Given the description of an element on the screen output the (x, y) to click on. 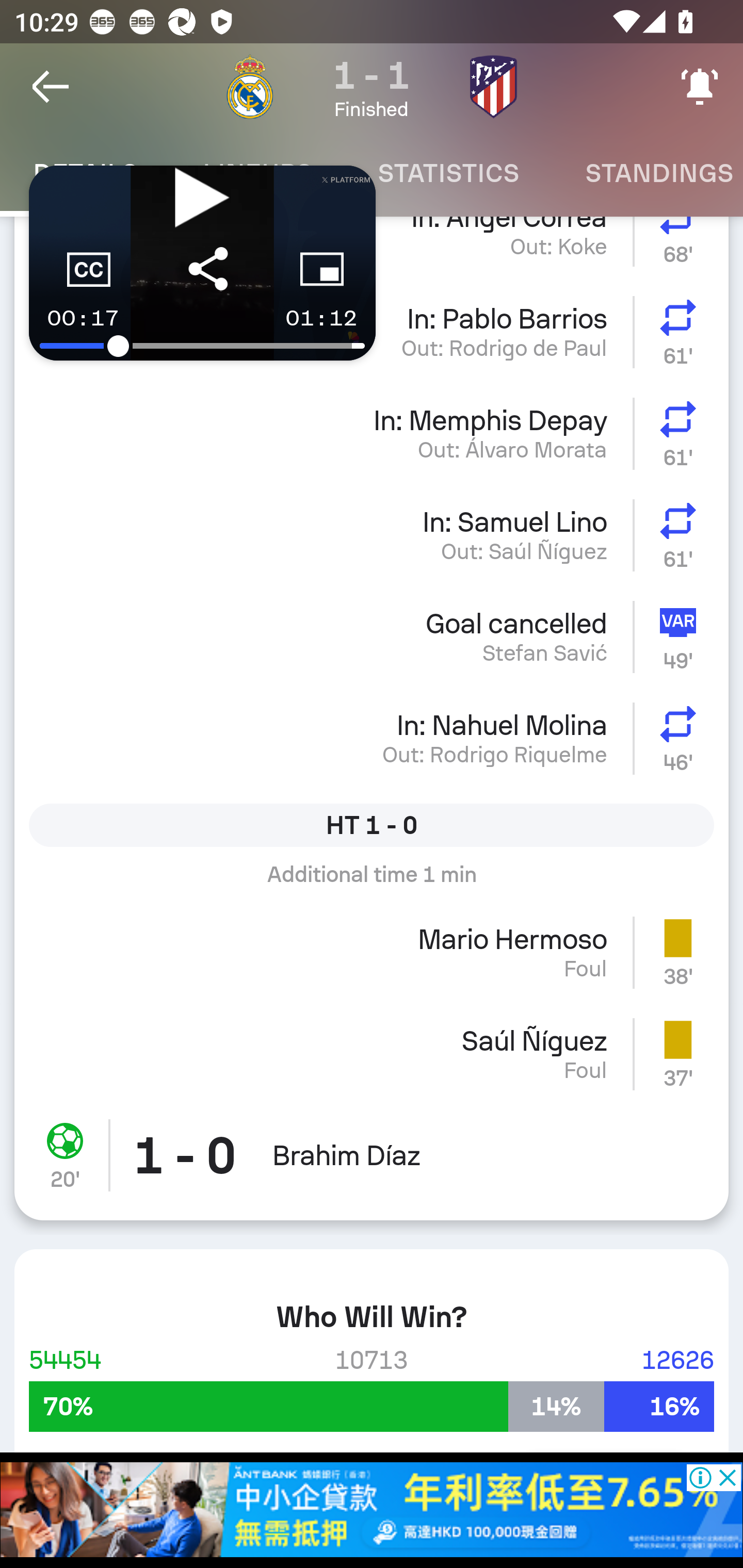
Navigate up (50, 86)
Statistics STATISTICS (448, 173)
Standings STANDINGS (647, 173)
In: Samuel Lino Out: Saúl Ñíguez Substitution 61' (371, 535)
Goal cancelled Stefan Savić VAR 49' (371, 636)
HT 1 - 0 (371, 824)
Additional time 1 min (371, 880)
Mario Hermoso Foul Yellow card 38' (371, 952)
Saúl Ñíguez Foul Yellow card 37' (371, 1054)
Goal 20'  1  -  0  Brahim Díaz (371, 1162)
